Given the description of an element on the screen output the (x, y) to click on. 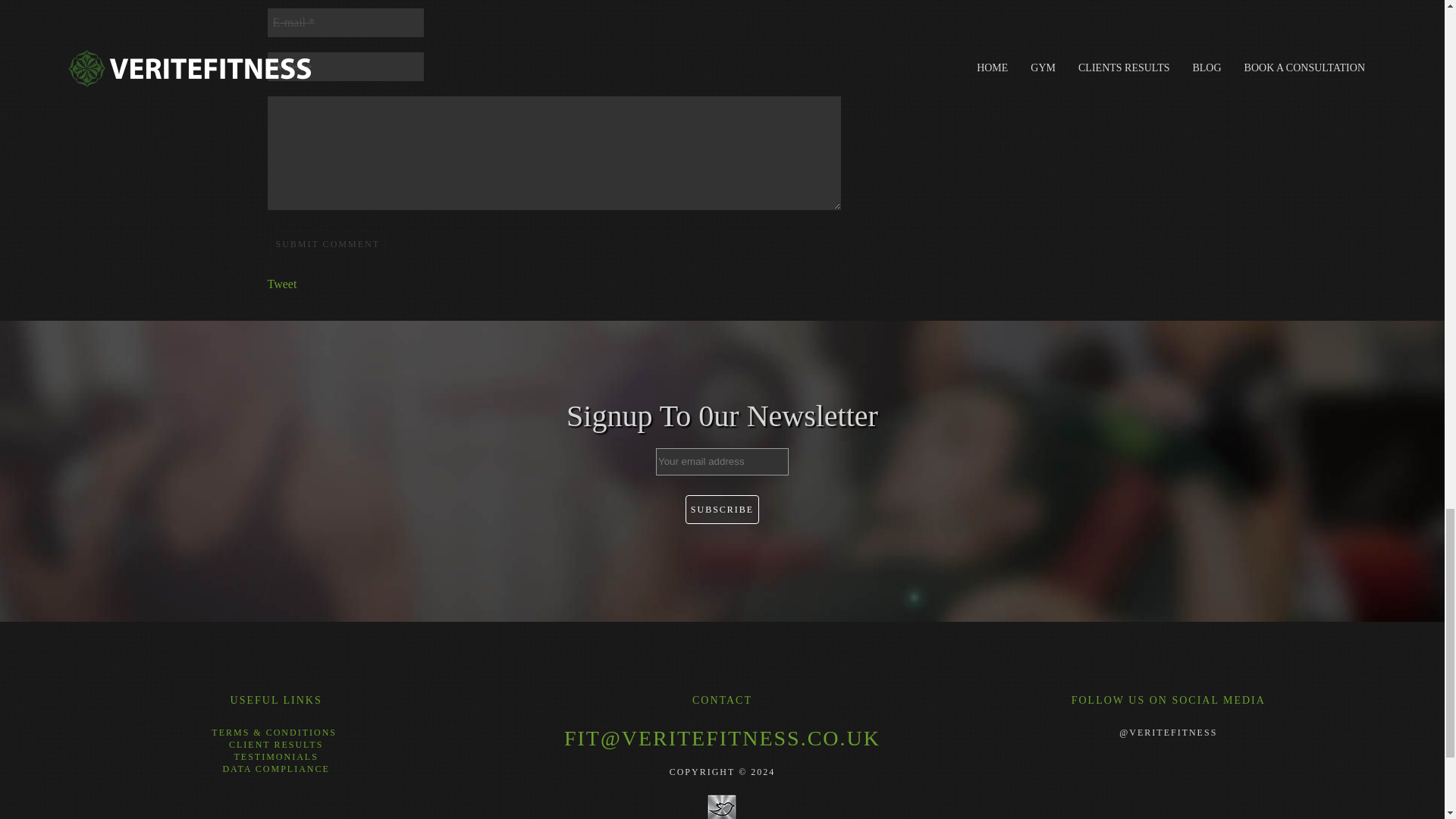
TESTIMONIALS (274, 756)
SUBMIT COMMENT (326, 244)
Tweet (281, 283)
CLIENT RESULTS (275, 744)
Subscribe (721, 509)
DATA COMPLIANCE (275, 768)
Subscribe (721, 509)
